Given the description of an element on the screen output the (x, y) to click on. 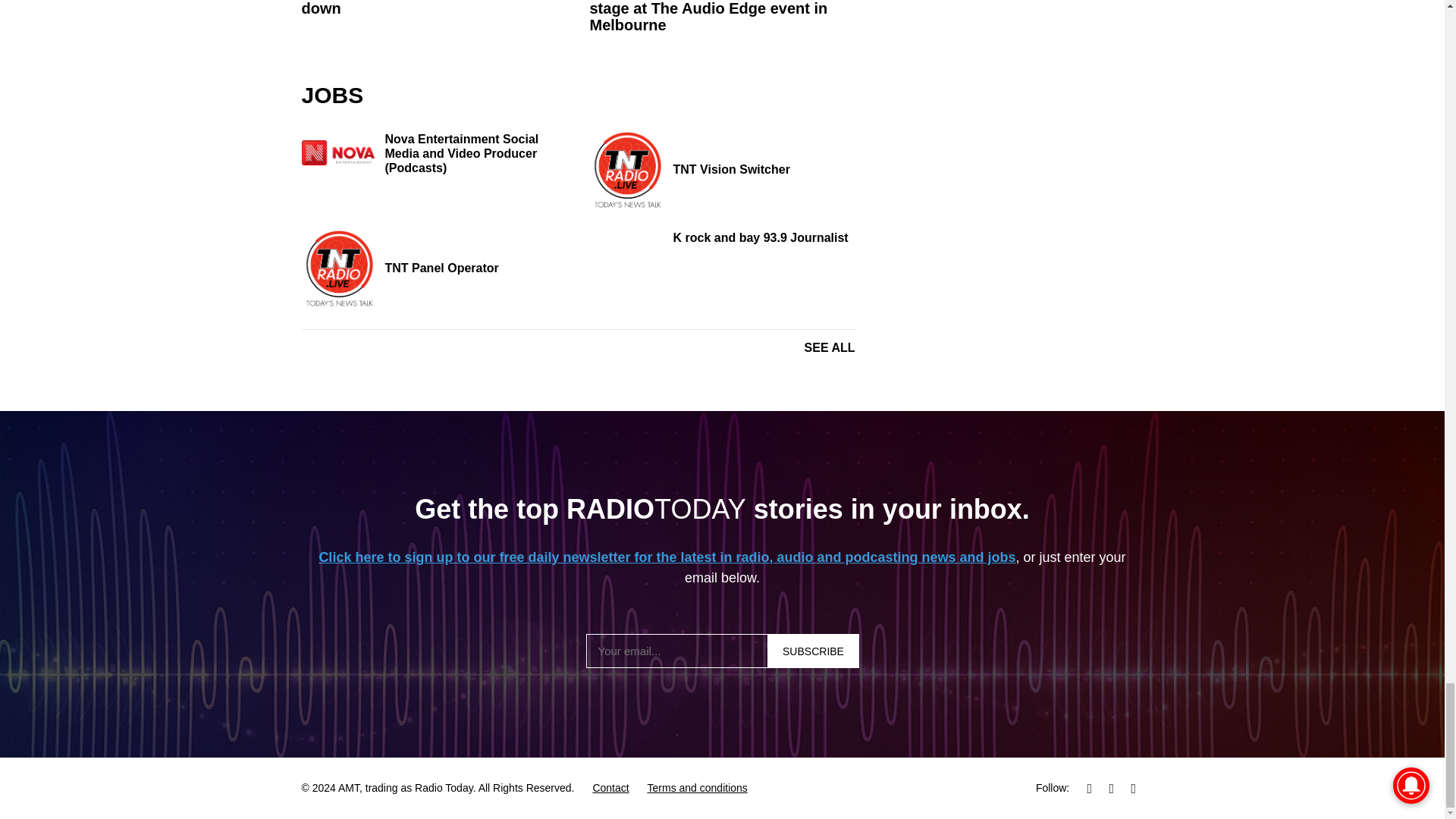
Subscribe (813, 650)
